Given the description of an element on the screen output the (x, y) to click on. 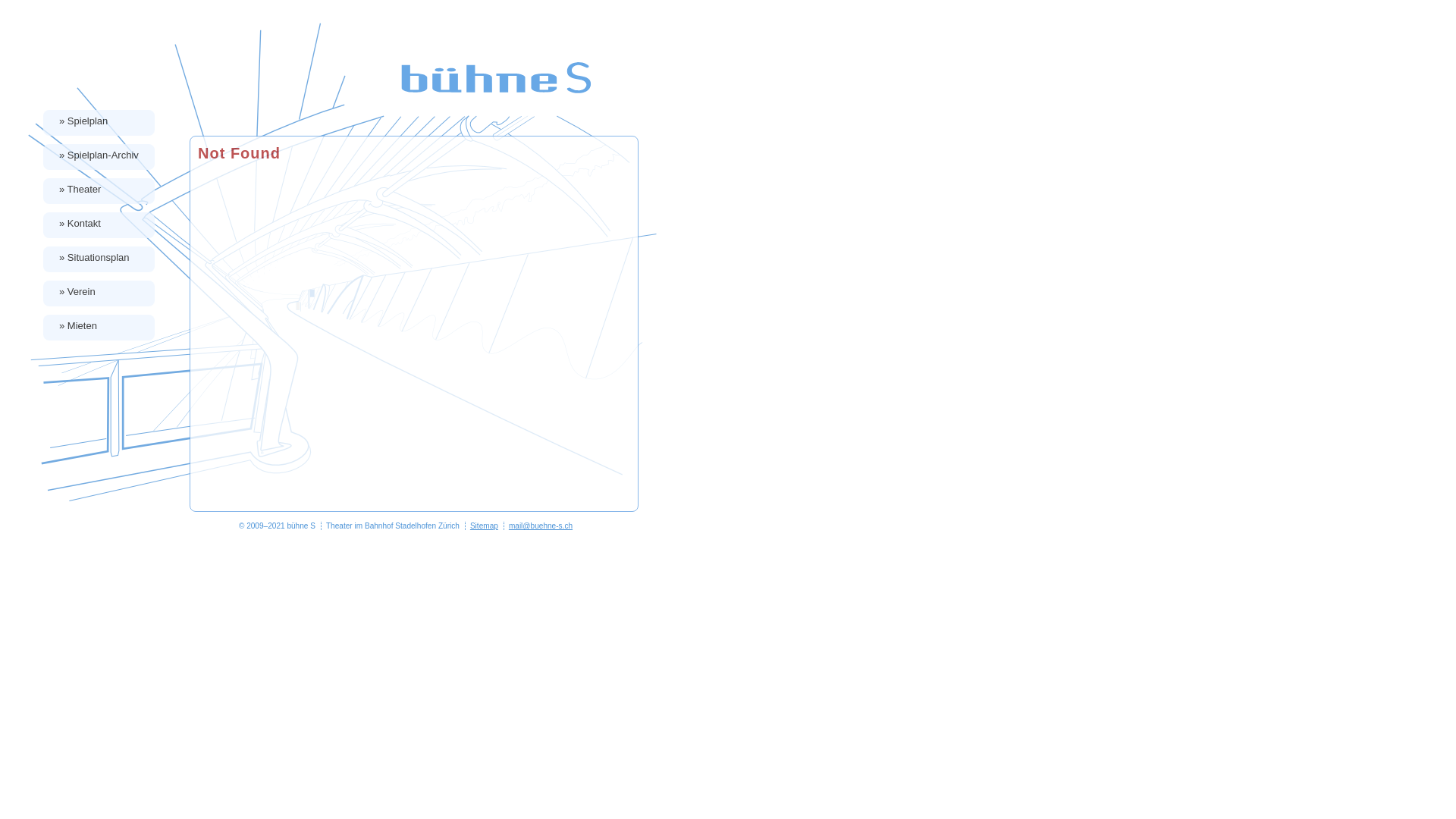
mail@buehne-s.ch Element type: text (540, 525)
bearbeiten Element type: text (1437, 810)
Sitemap Element type: text (484, 525)
